Given the description of an element on the screen output the (x, y) to click on. 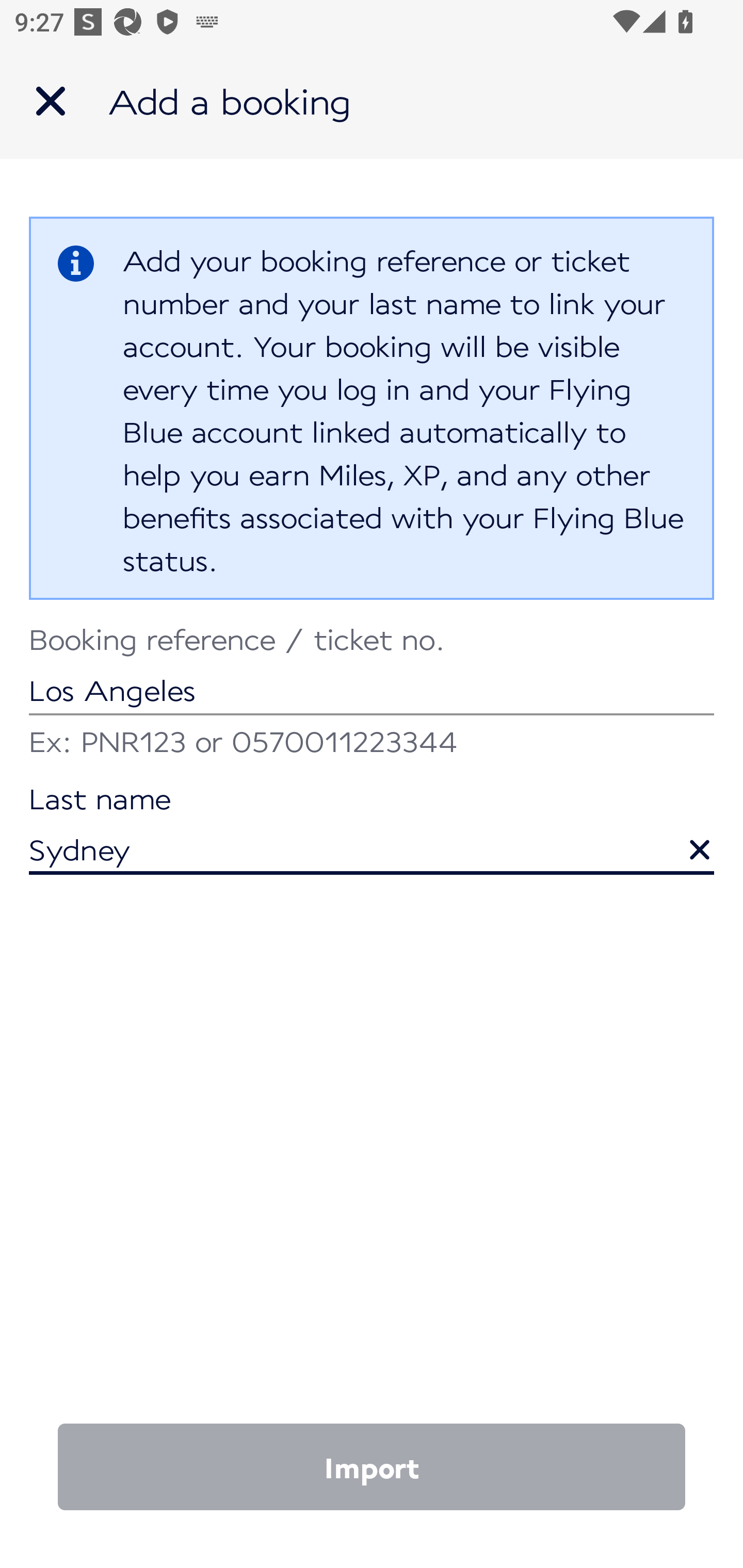
Los Angeles Ex: PNR123 or 0570011223344 (371, 693)
Los Angeles (371, 671)
Sydney Clear text (371, 831)
Clear text (685, 839)
Import (371, 1466)
